Given the description of an element on the screen output the (x, y) to click on. 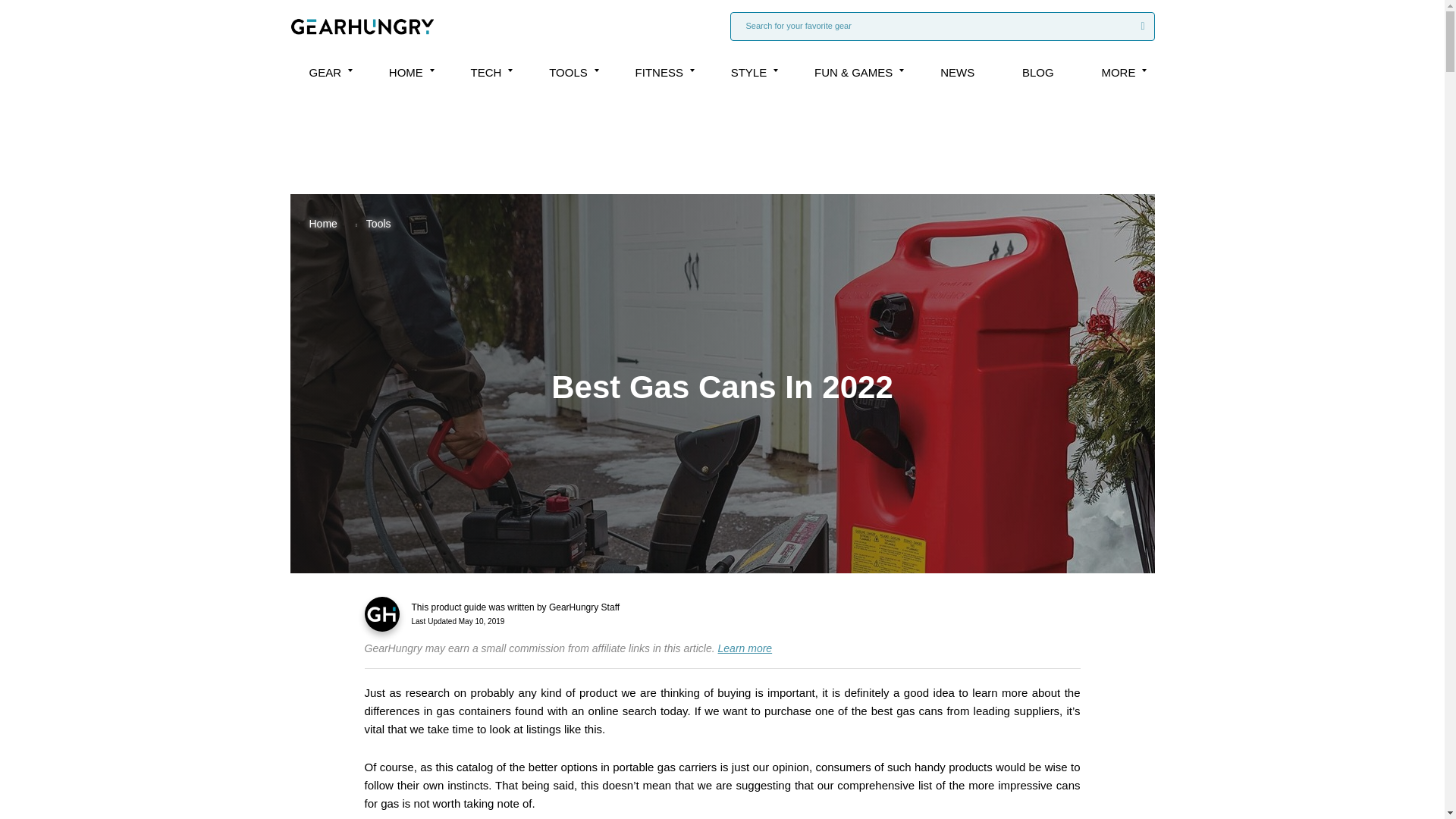
FITNESS (658, 72)
TOOLS (568, 72)
HOME (405, 72)
GEAR (324, 72)
TECH (486, 72)
